Given the description of an element on the screen output the (x, y) to click on. 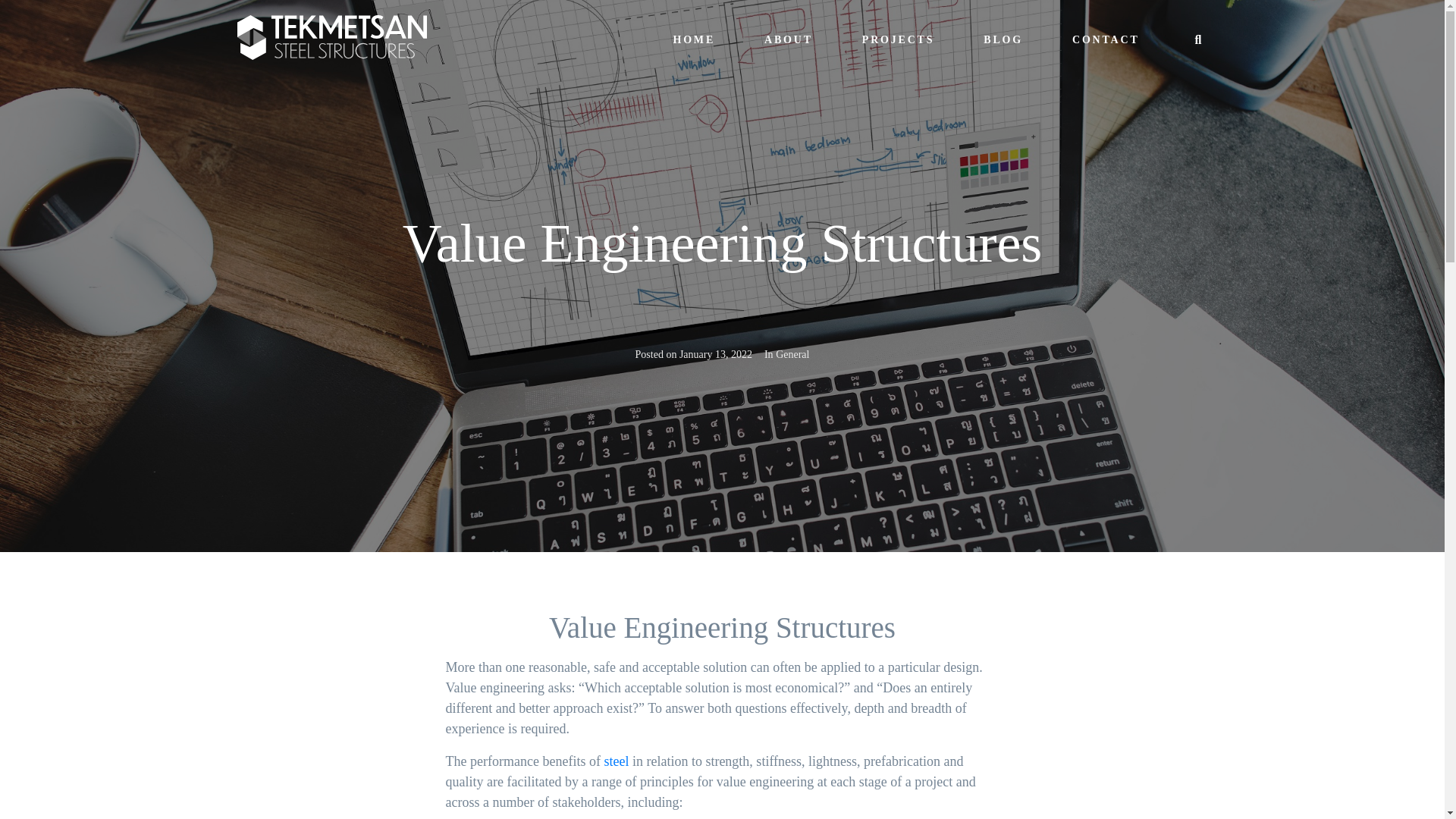
Posted on January 13, 2022 (693, 354)
ABOUT (788, 39)
BLOG (1002, 39)
PROJECTS (899, 39)
HOME (693, 39)
steel (616, 761)
General (792, 354)
CONTACT (1105, 39)
